Given the description of an element on the screen output the (x, y) to click on. 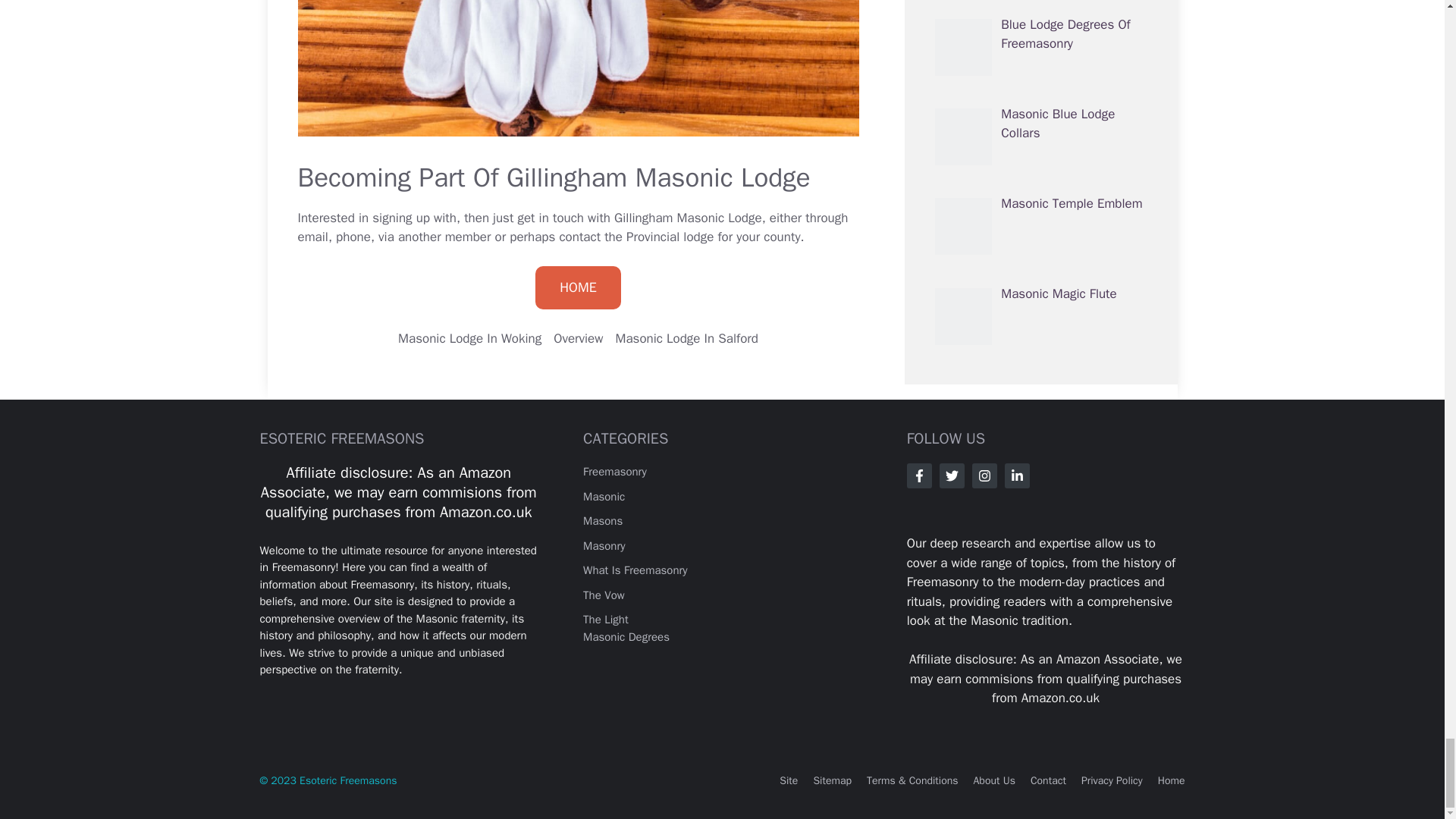
Masonic Lodge In Salford (685, 338)
Masonic Lodge In Woking (469, 338)
Overview (577, 338)
HOME (578, 287)
